Given the description of an element on the screen output the (x, y) to click on. 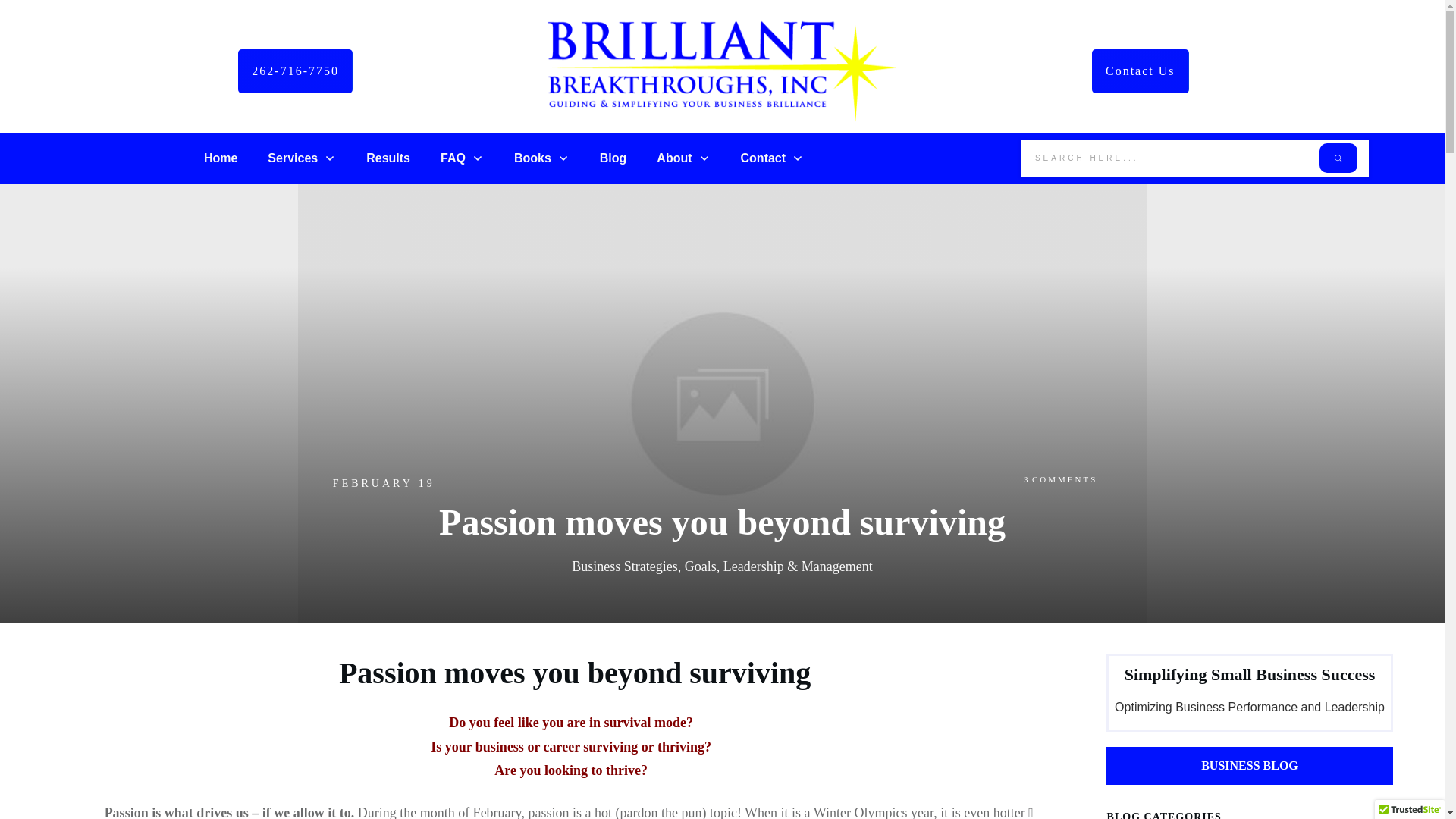
Goals (700, 566)
Books (541, 158)
Blog (613, 158)
Goals (700, 566)
FAQ (462, 158)
Contact (773, 158)
Contact Us (1140, 71)
Results (388, 158)
Services (301, 158)
Home (220, 158)
Business Strategies (625, 566)
262-716-7750 (295, 71)
Business Strategies (625, 566)
About (683, 158)
